Given the description of an element on the screen output the (x, y) to click on. 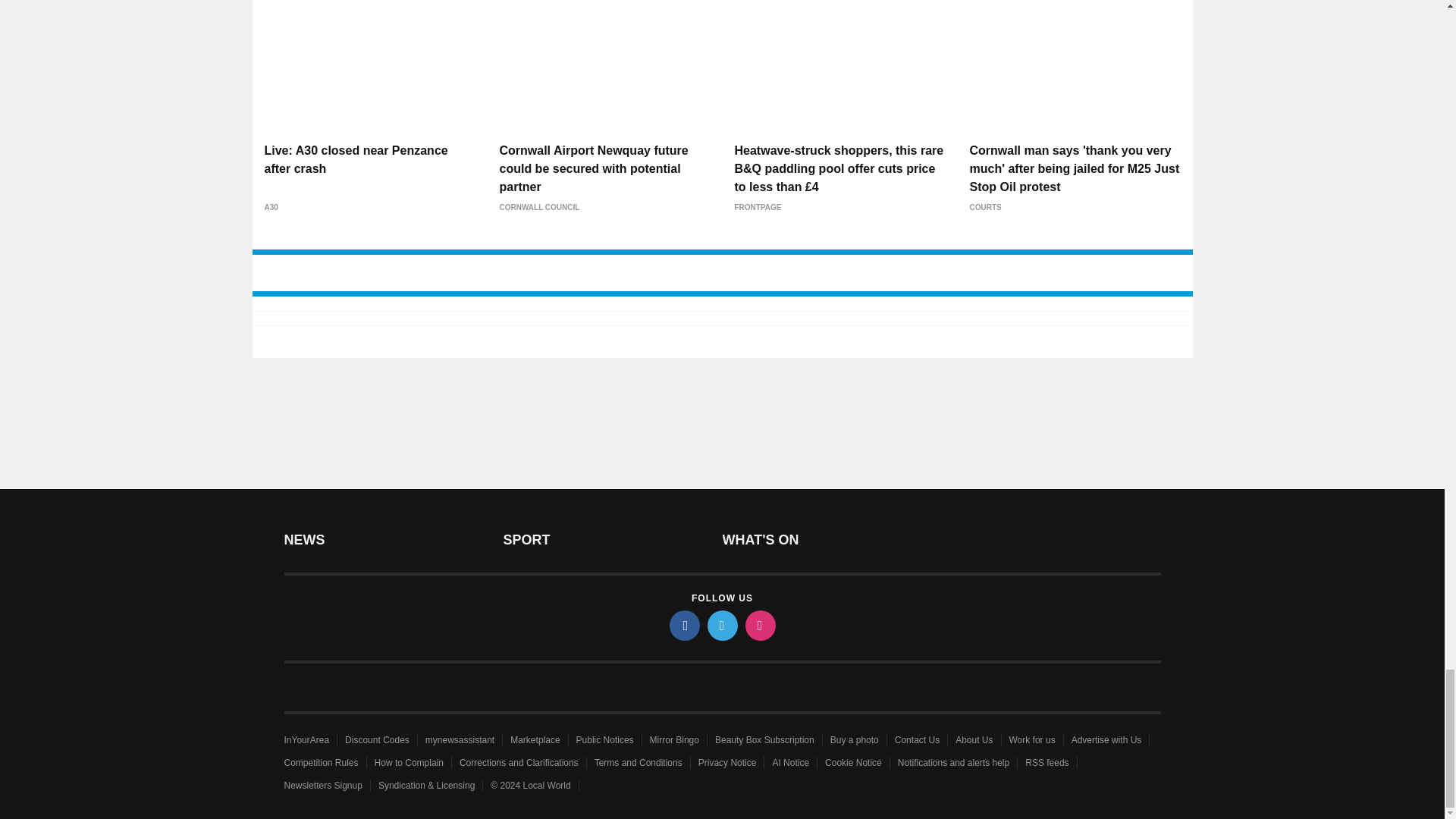
twitter (721, 625)
instagram (759, 625)
facebook (683, 625)
